Given the description of an element on the screen output the (x, y) to click on. 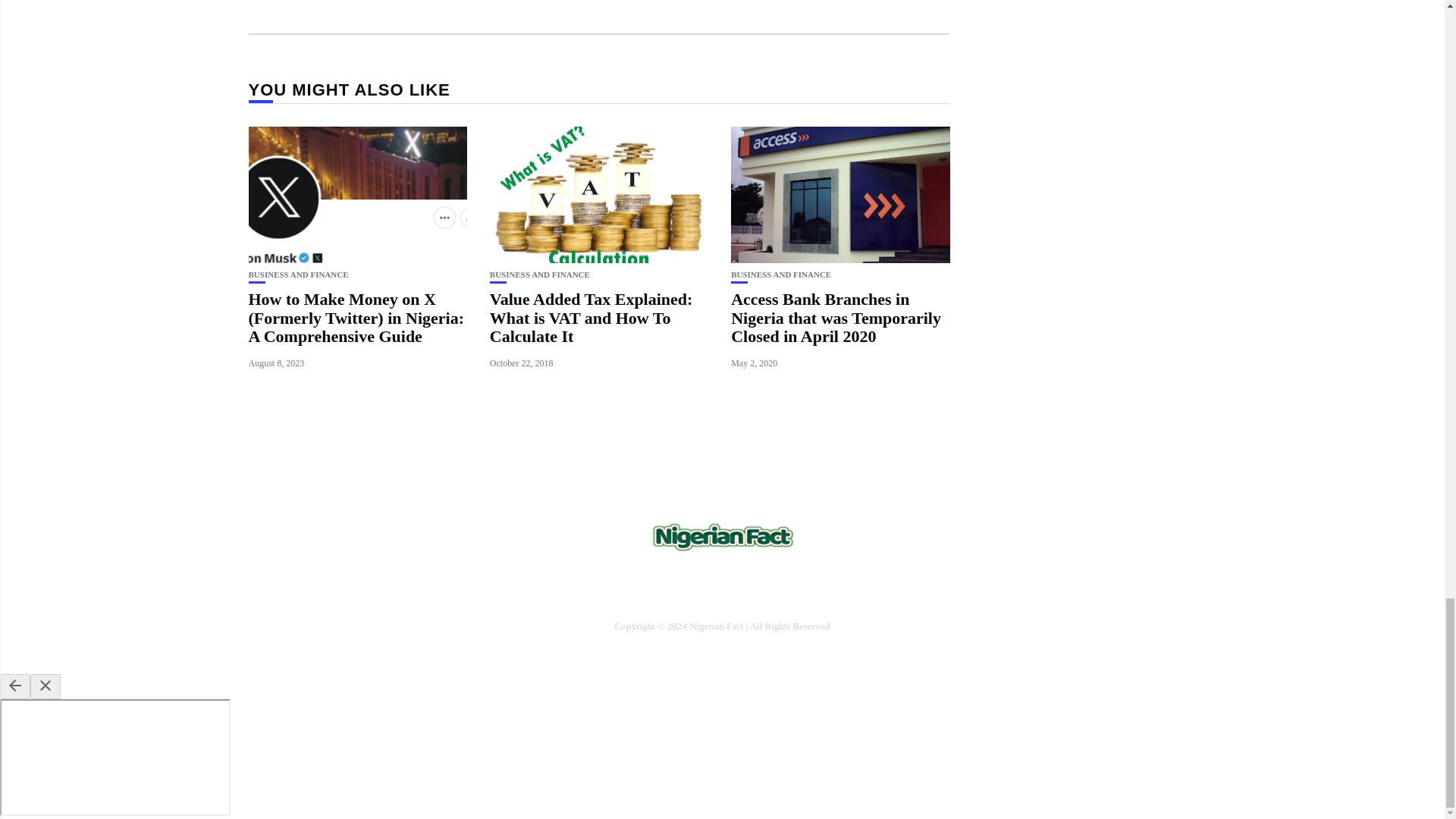
BUSINESS AND FINANCE (298, 275)
